Given the description of an element on the screen output the (x, y) to click on. 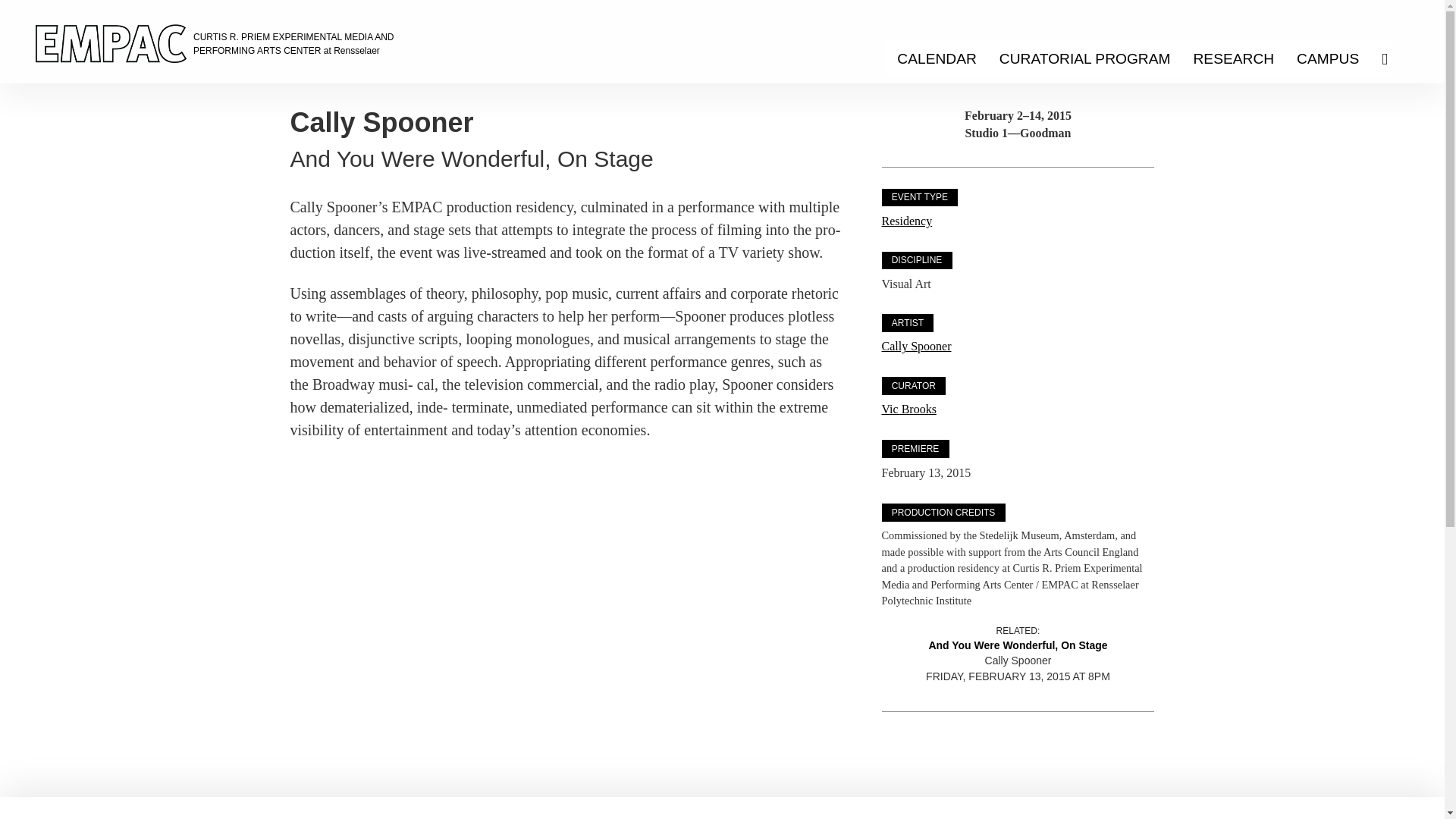
SEARCH (1390, 58)
RESEARCH (1232, 58)
CALENDAR (936, 58)
About the curated program at EMPAC (1085, 58)
CAMPUS (1327, 58)
search (1390, 58)
CURATORIAL PROGRAM (1085, 58)
Vic Brooks (908, 408)
And You Were Wonderful, On Stage (1017, 646)
Cally Spooner (915, 345)
Residency (905, 220)
Home (98, 43)
